Given the description of an element on the screen output the (x, y) to click on. 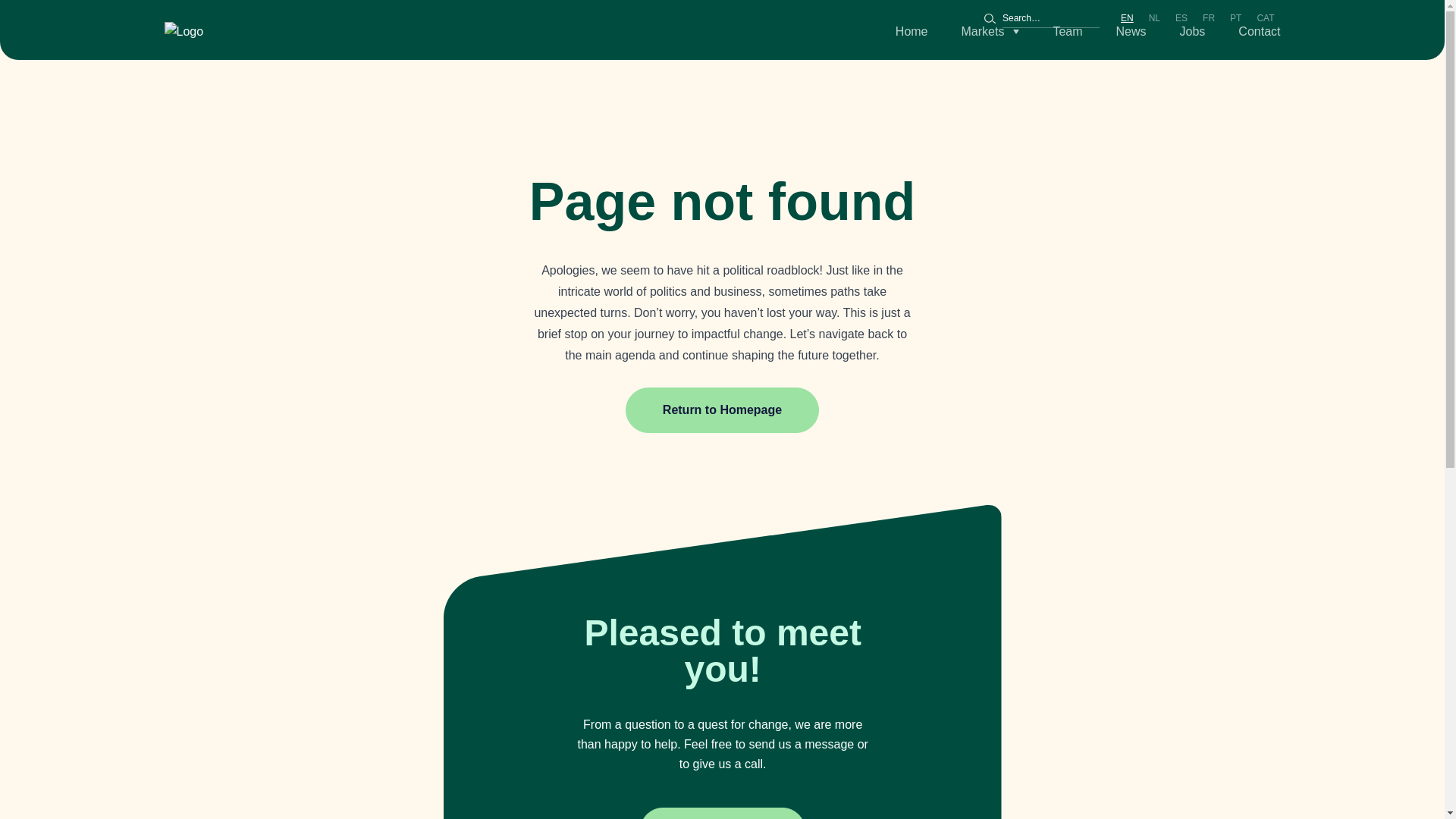
Markets (990, 31)
News (1131, 31)
Political Intelligence (183, 31)
ES (1181, 18)
Reach out to us (722, 813)
PT (1235, 18)
Jobs (1192, 31)
FR (1208, 18)
Home (911, 31)
Return to Homepage (722, 409)
